Given the description of an element on the screen output the (x, y) to click on. 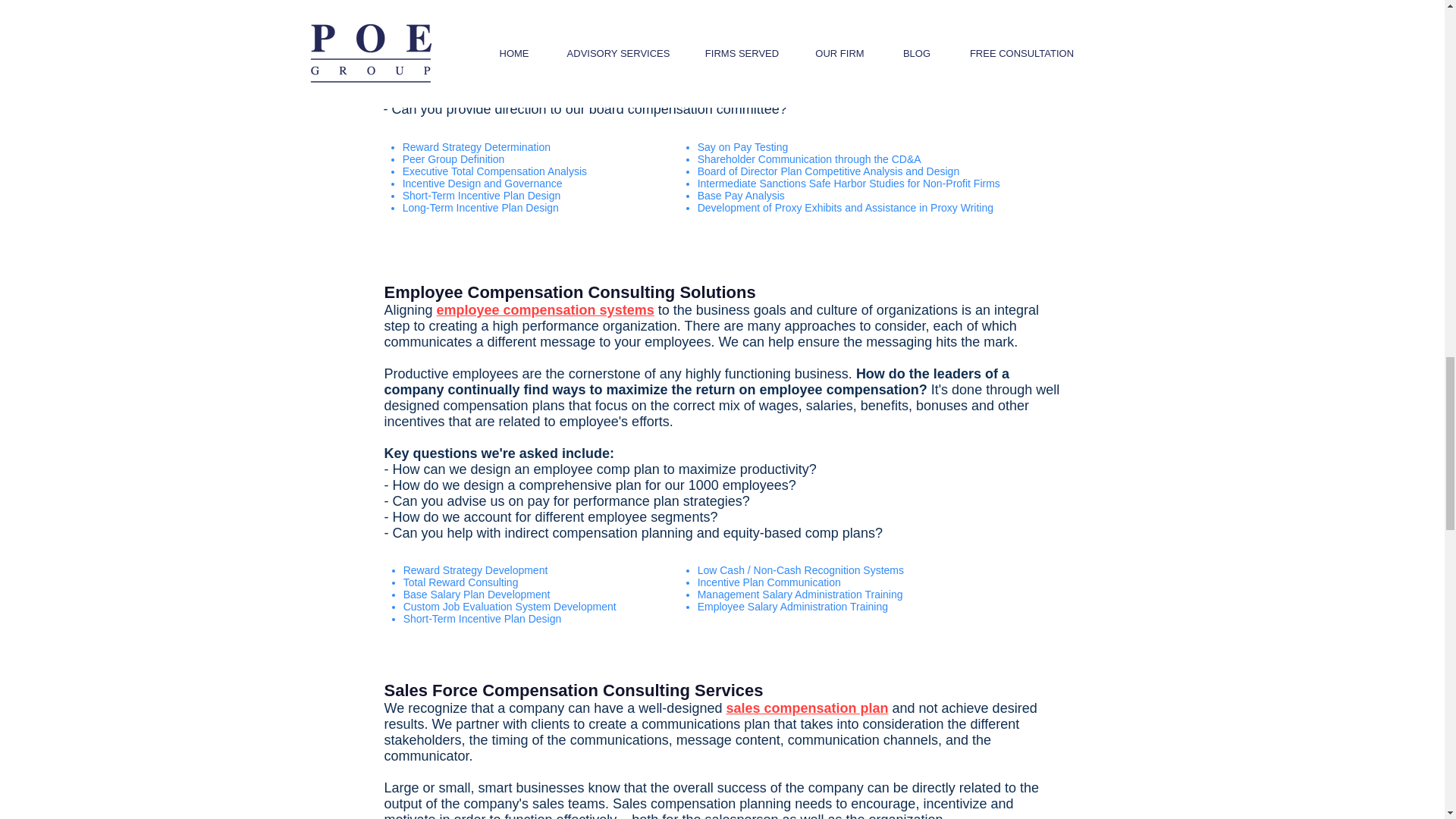
employee compensation systems (544, 309)
sales compensation plan (806, 708)
